Given the description of an element on the screen output the (x, y) to click on. 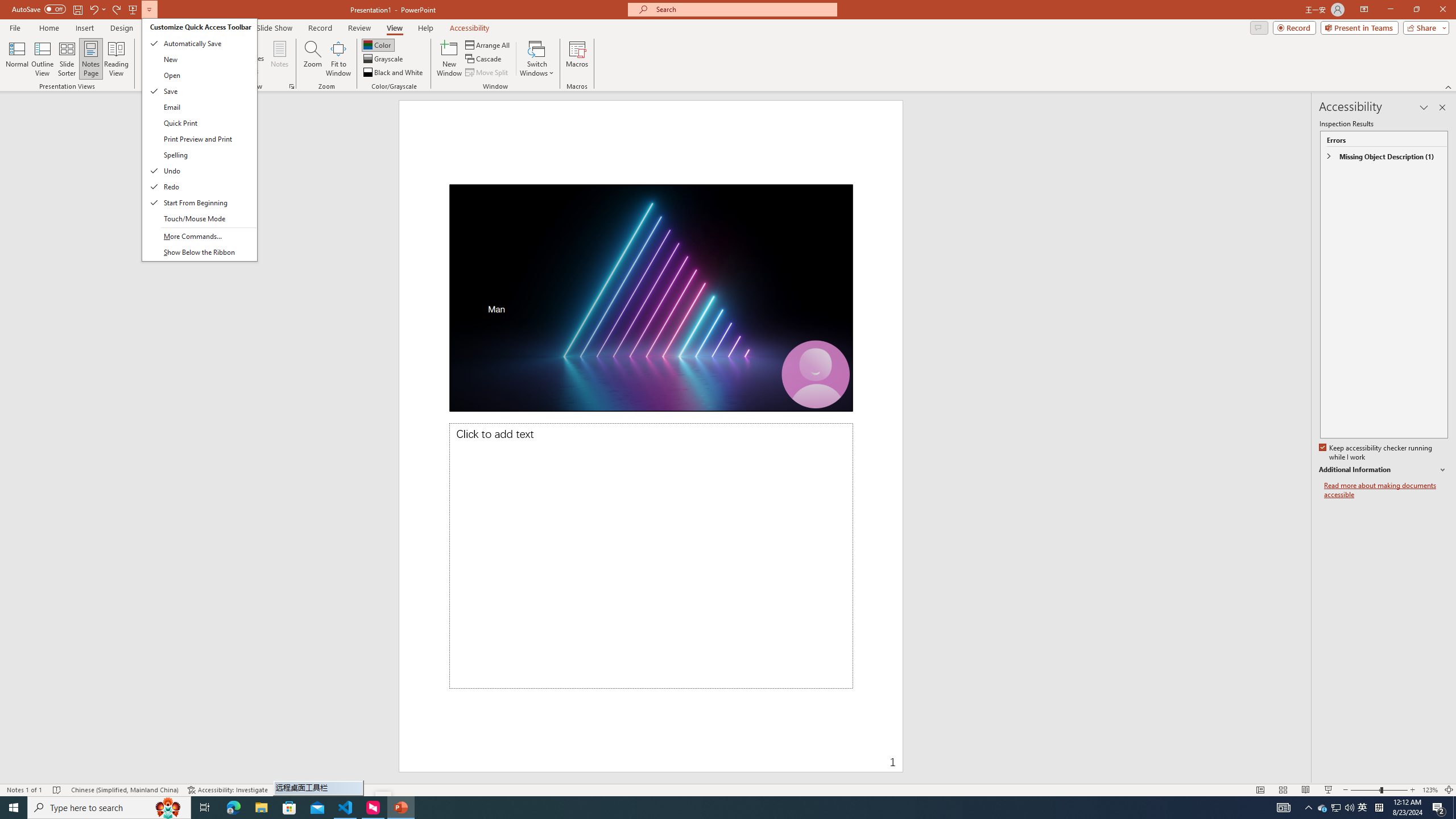
Microsoft Edge (233, 807)
Running applications (700, 807)
Color (1362, 807)
Page Number (377, 44)
